Given the description of an element on the screen output the (x, y) to click on. 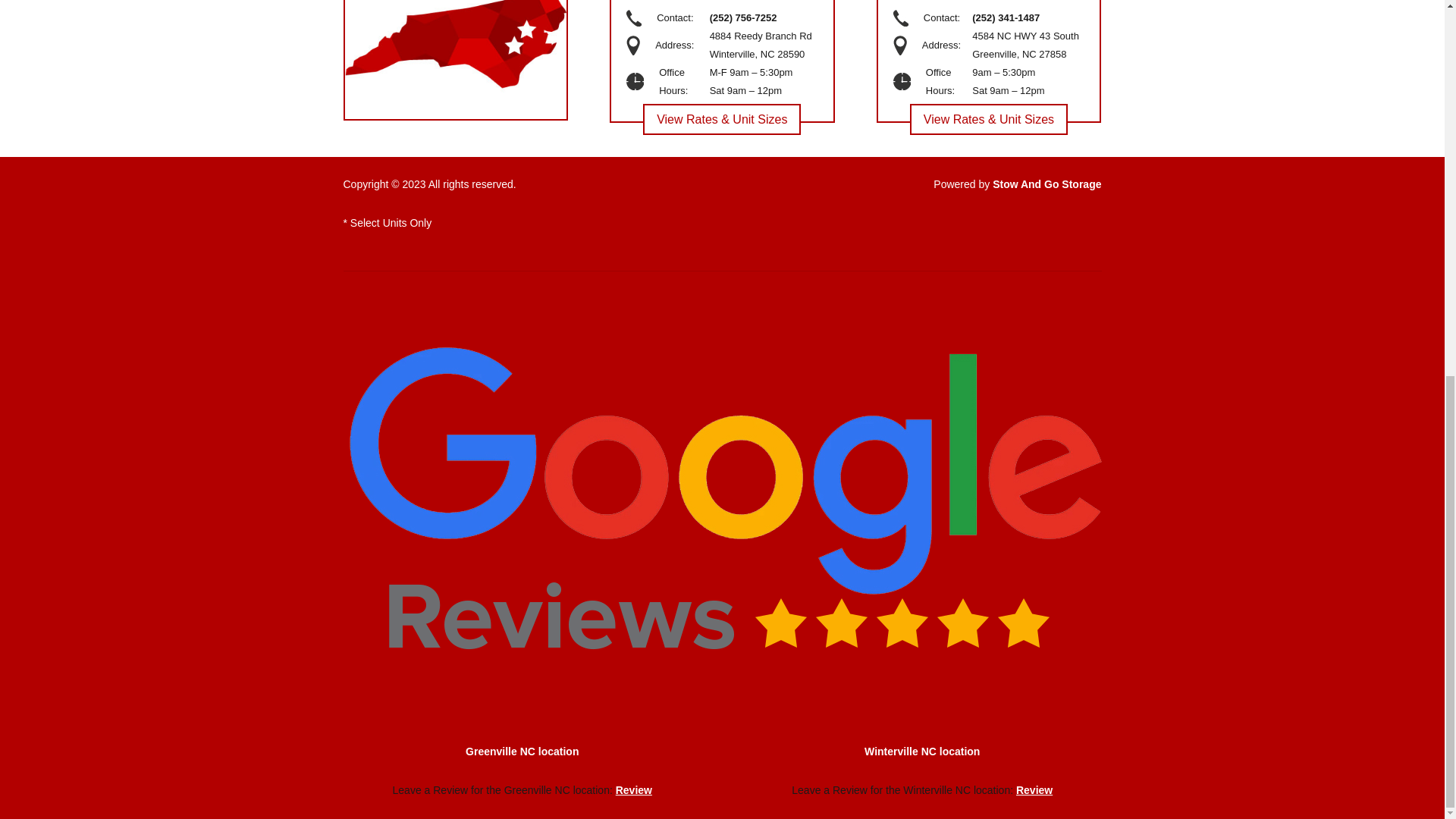
Review (1034, 789)
Stow And Go Storage (1046, 184)
Review (633, 789)
